Given the description of an element on the screen output the (x, y) to click on. 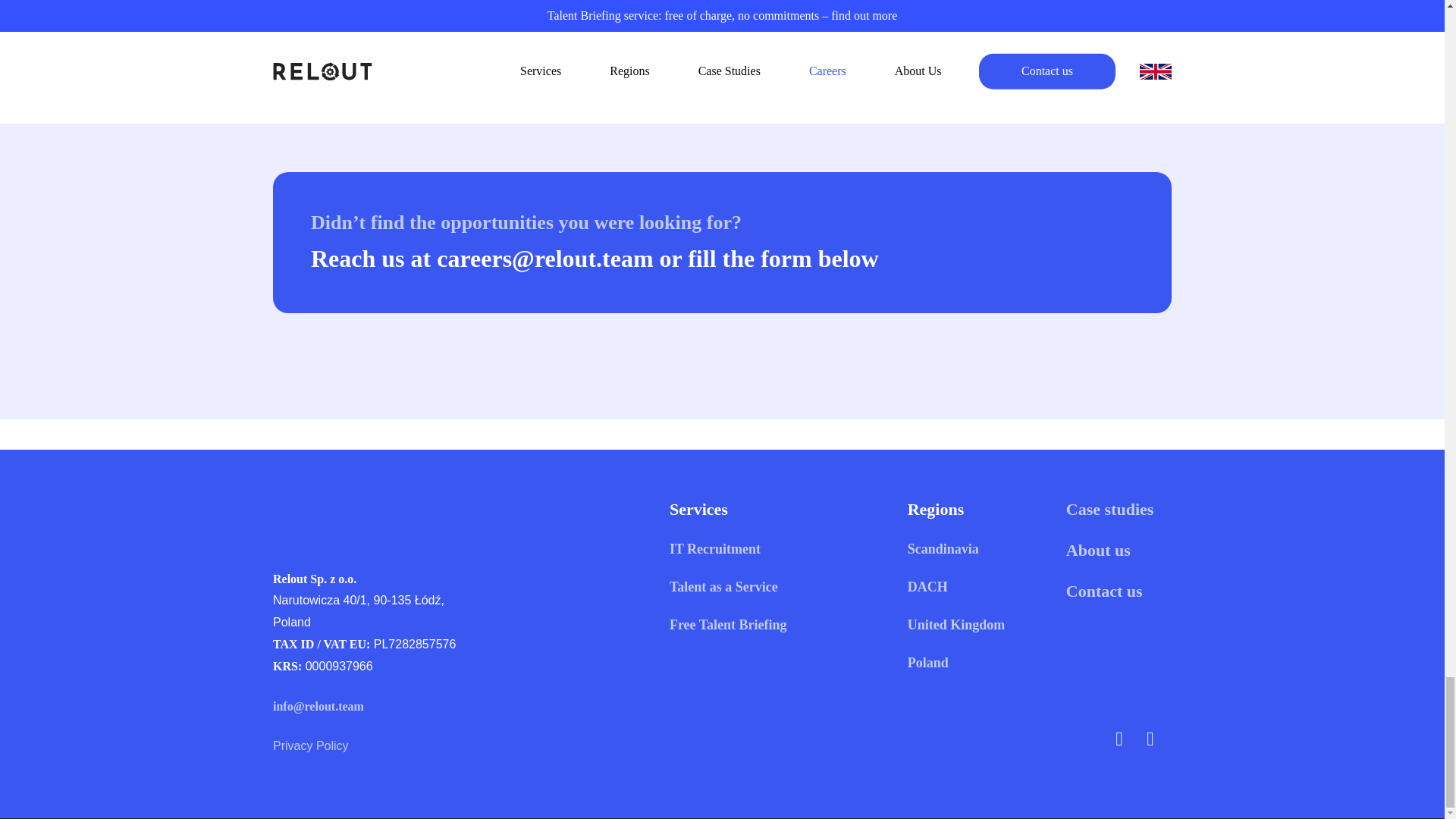
Privacy Policy (311, 745)
IT Recruitment (714, 548)
Free Talent Briefing (728, 624)
Talent as a Service (723, 586)
Scandinavia (942, 548)
